Given the description of an element on the screen output the (x, y) to click on. 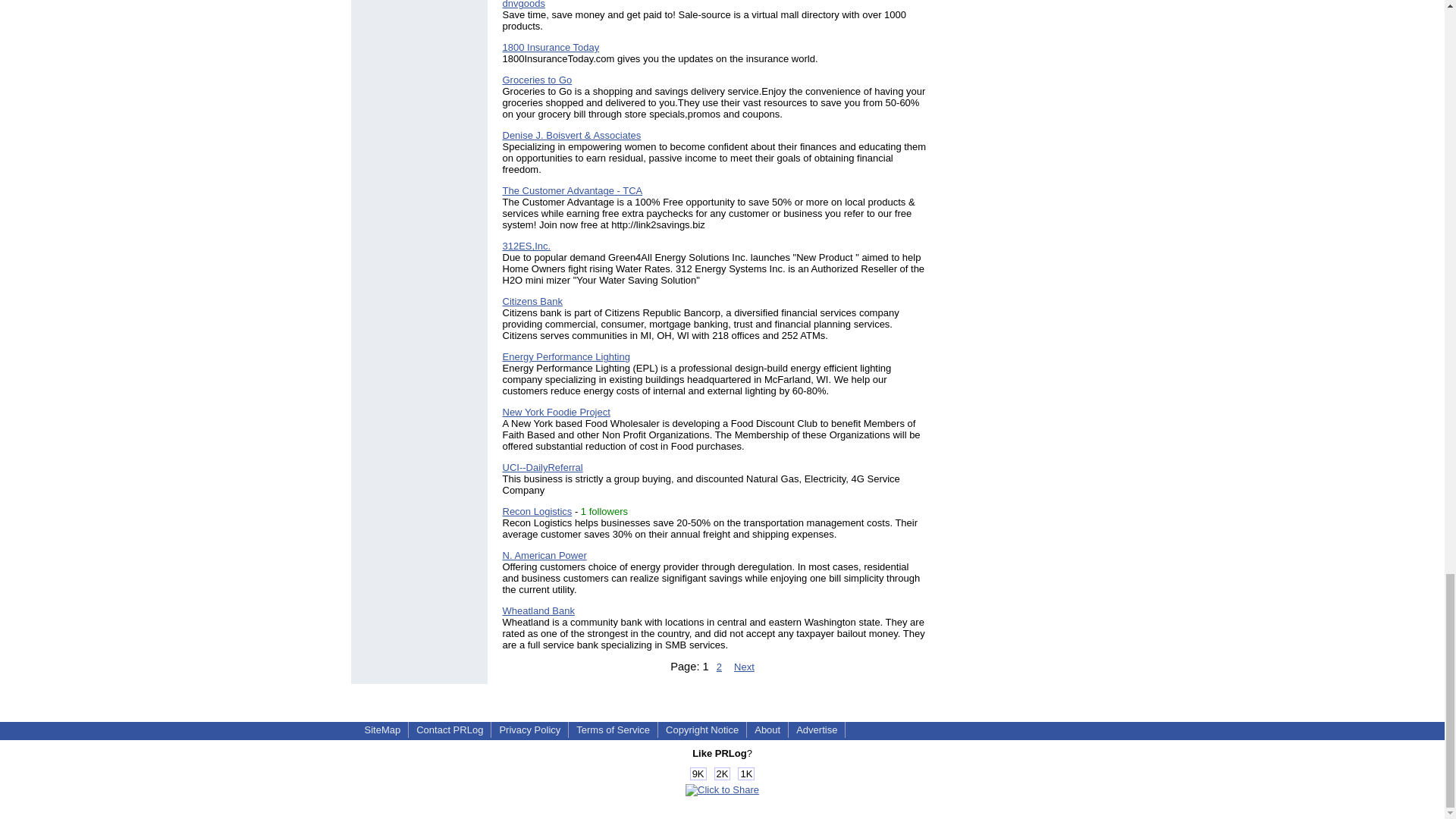
Share this page! (721, 789)
